Given the description of an element on the screen output the (x, y) to click on. 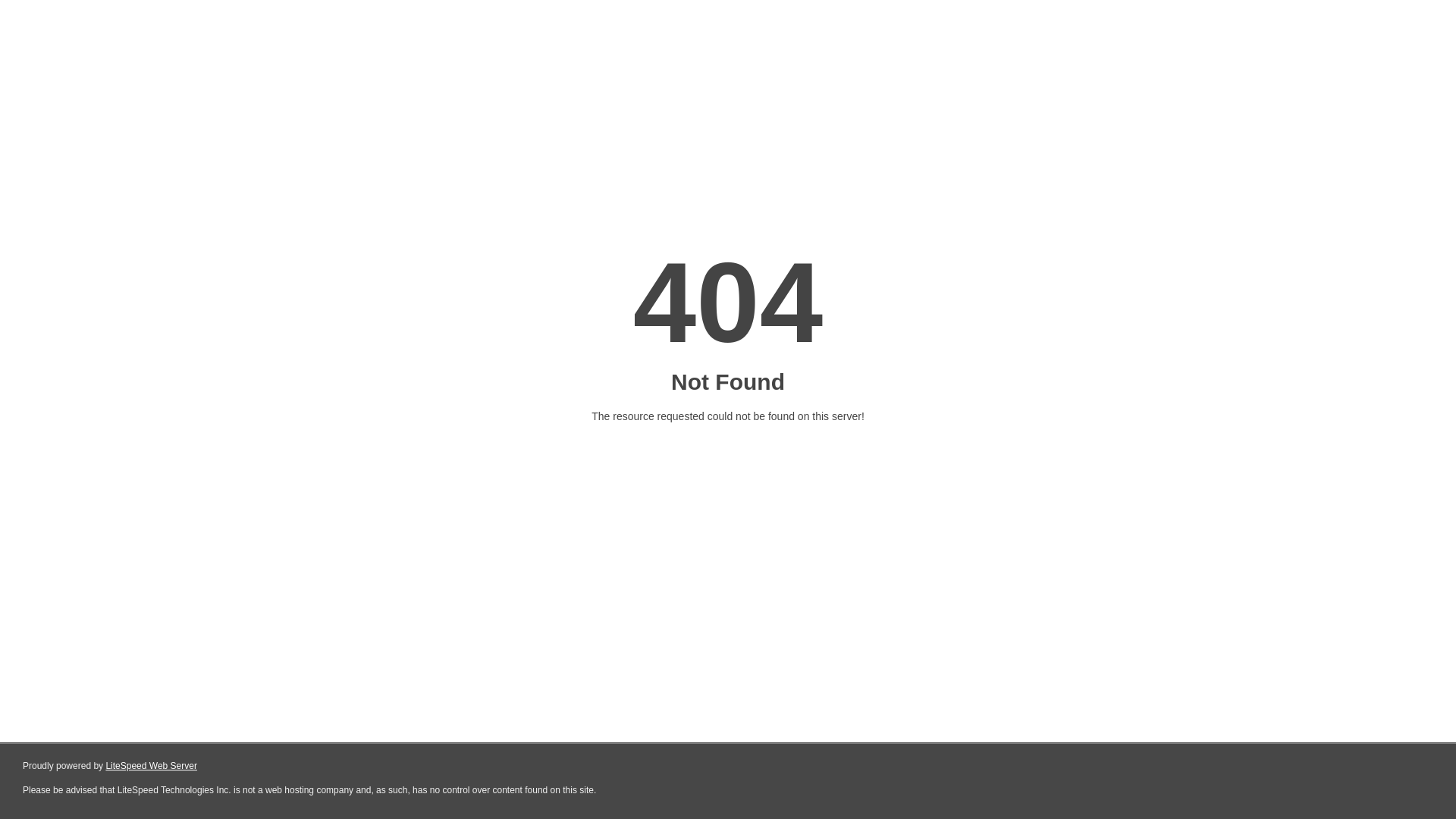
LiteSpeed Web Server Element type: text (151, 765)
